Given the description of an element on the screen output the (x, y) to click on. 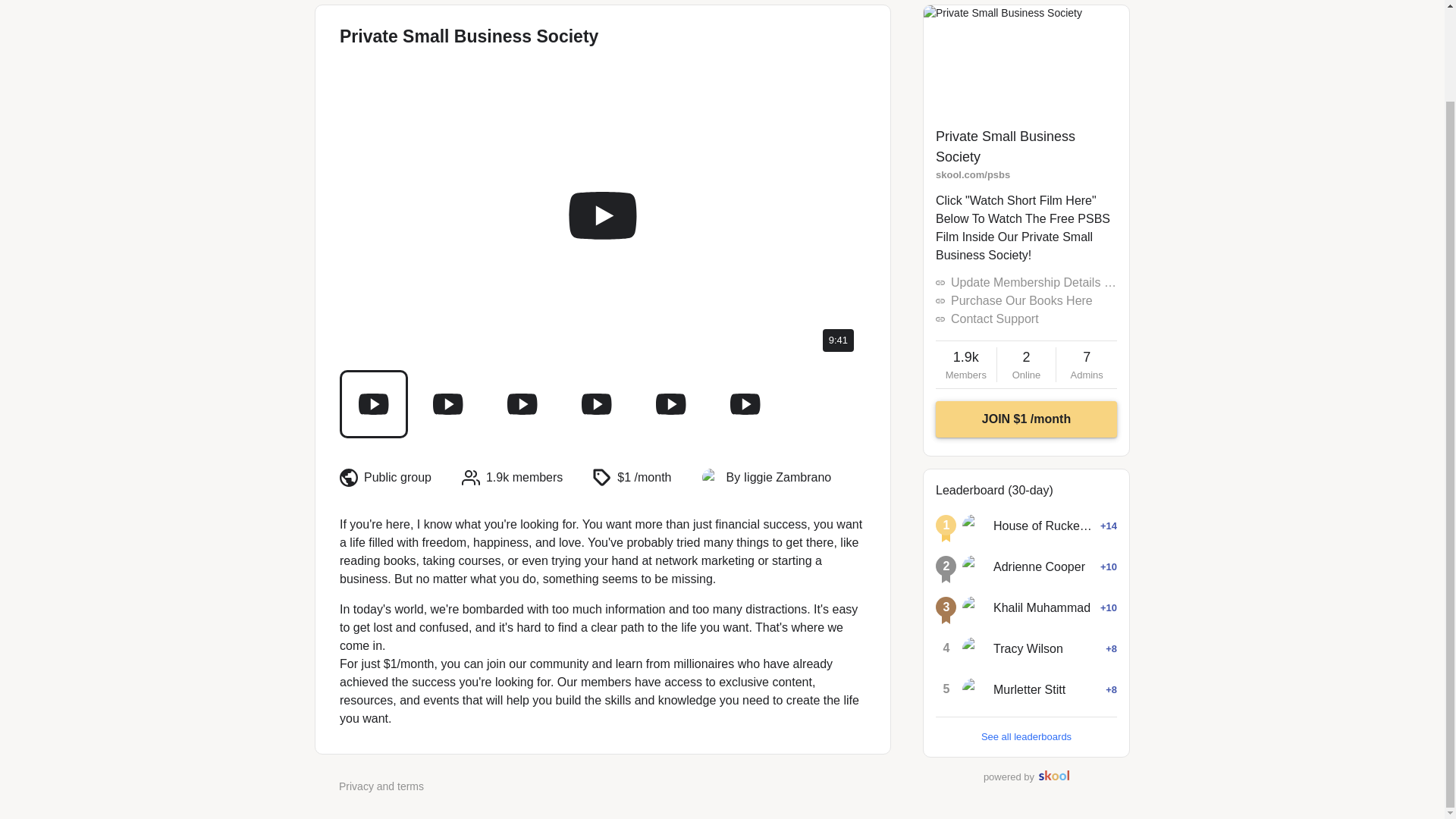
Contact Support (994, 318)
Adrienne Cooper (1038, 566)
Adrienne Cooper (974, 567)
Private Small Business Society (1005, 146)
Khalil Muhammad (974, 607)
Purchase Our Books Here (1021, 300)
House of Ruckerharris (1043, 525)
Iiggie Zambrano (710, 477)
By Iiggie Zambrano (965, 365)
Privacy and terms (778, 477)
Tracy Wilson (381, 786)
powered by (1027, 648)
Tracy Wilson (1026, 776)
